Given the description of an element on the screen output the (x, y) to click on. 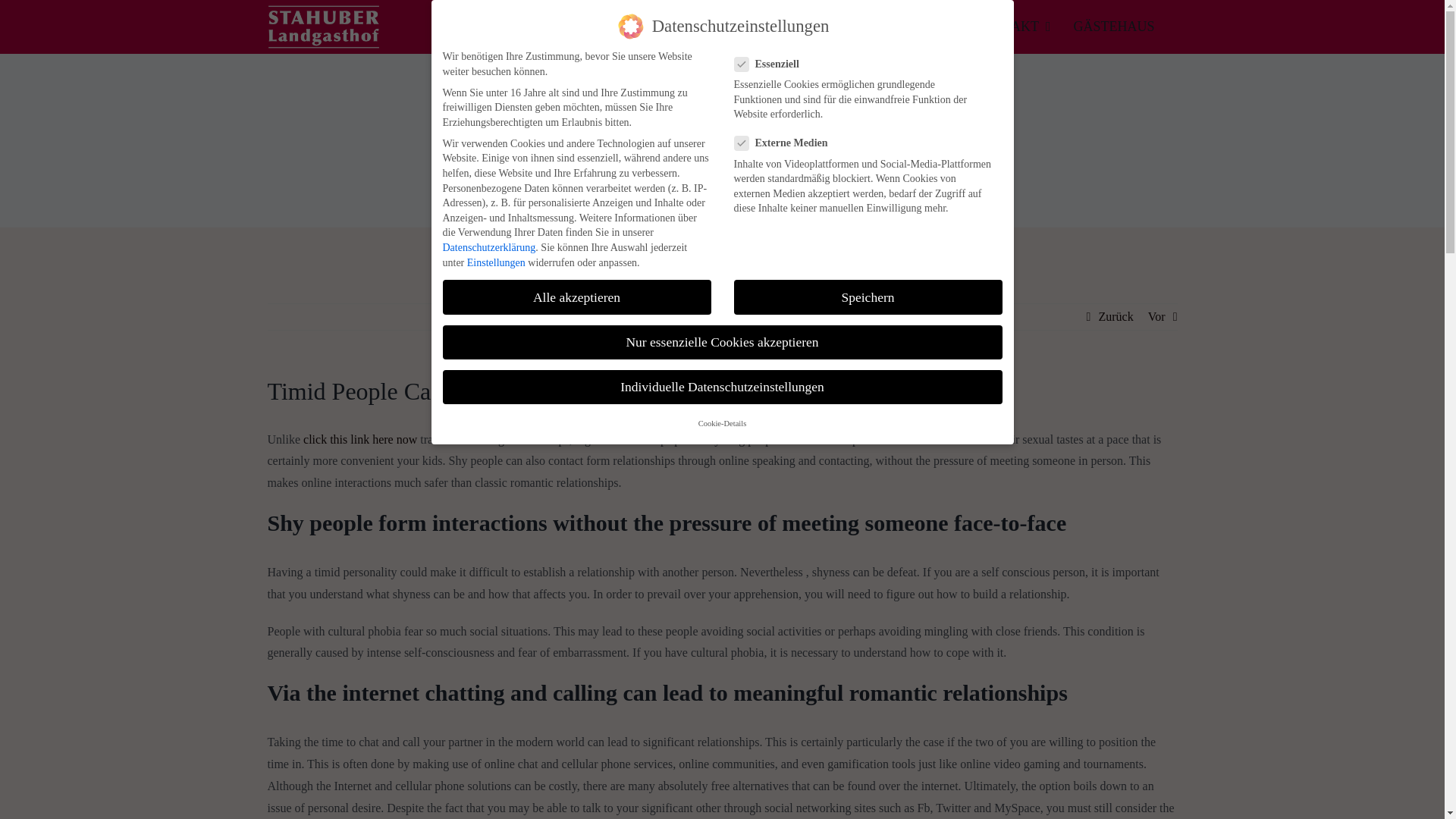
FOTOS (941, 26)
KONTAKT (1023, 26)
FEIERN (734, 26)
NEUES (874, 26)
TRADITION (650, 26)
click this link here now (359, 439)
